Given the description of an element on the screen output the (x, y) to click on. 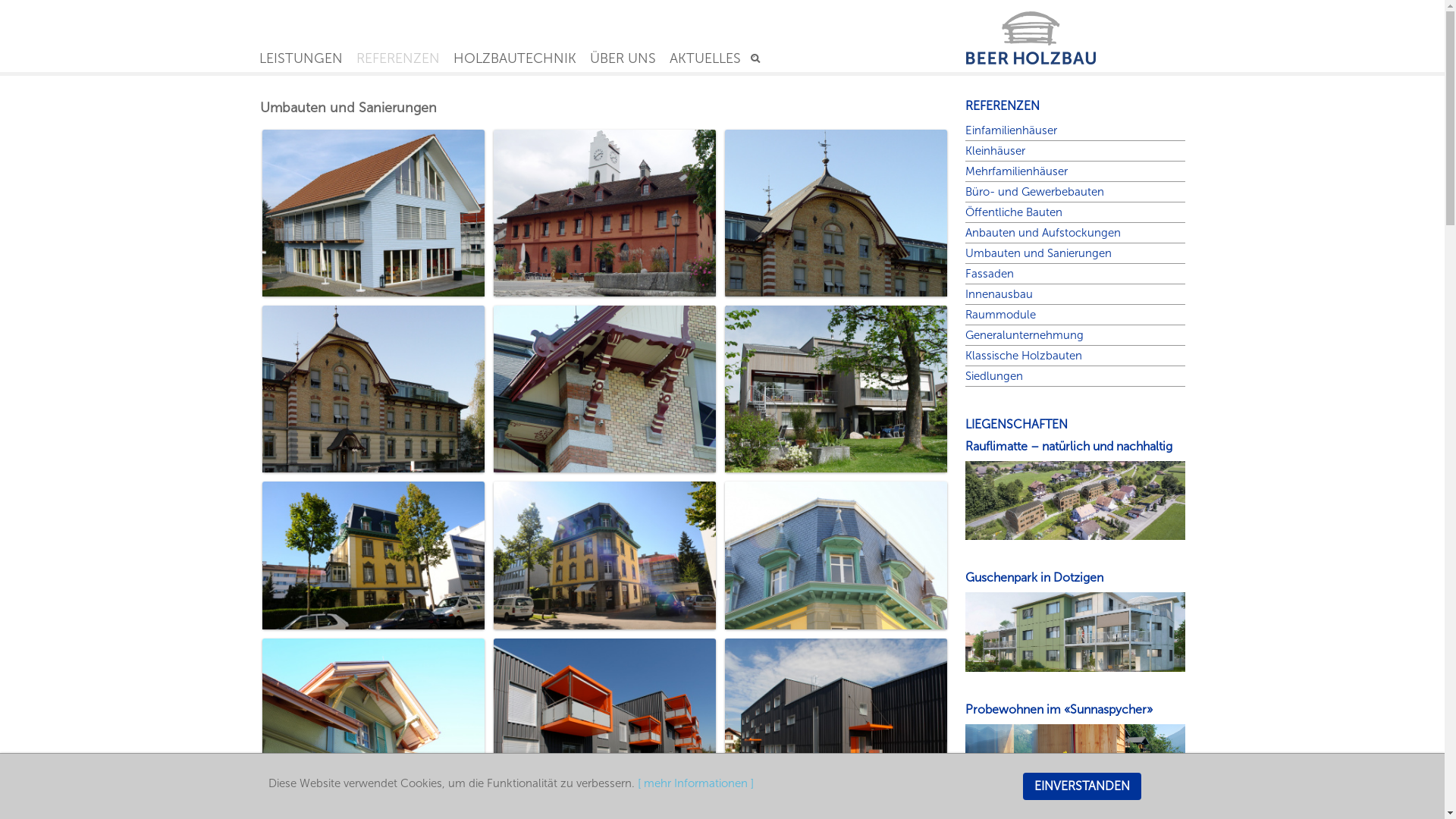
REFERENZEN Element type: text (396, 58)
EINVERSTANDEN Element type: text (1081, 786)
Innenausbau Element type: text (998, 294)
Eigentumswohnung oder Kleinhaus in Dotzigen Element type: hover (1074, 630)
Probewohnen im Sunnespycher Element type: hover (1074, 763)
Beer Holzbau AG - Ostermundigen bei Bern Element type: hover (1074, 33)
[ mehr Informationen ] Element type: text (695, 783)
Umbauten und Sanierungen Element type: text (1037, 253)
Siedlungen Element type: text (993, 375)
Raummodule Element type: text (999, 314)
HOLZBAUTECHNIK Element type: text (513, 58)
LEISTUNGEN Element type: text (299, 58)
Generalunternehmung Element type: text (1023, 335)
Klassische Holzbauten Element type: text (1022, 355)
Anbauten und Aufstockungen Element type: text (1042, 232)
Fassaden Element type: text (988, 273)
AKTUELLES Element type: text (704, 58)
Probewohnen im Sunnespycher Element type: hover (1074, 762)
